Given the description of an element on the screen output the (x, y) to click on. 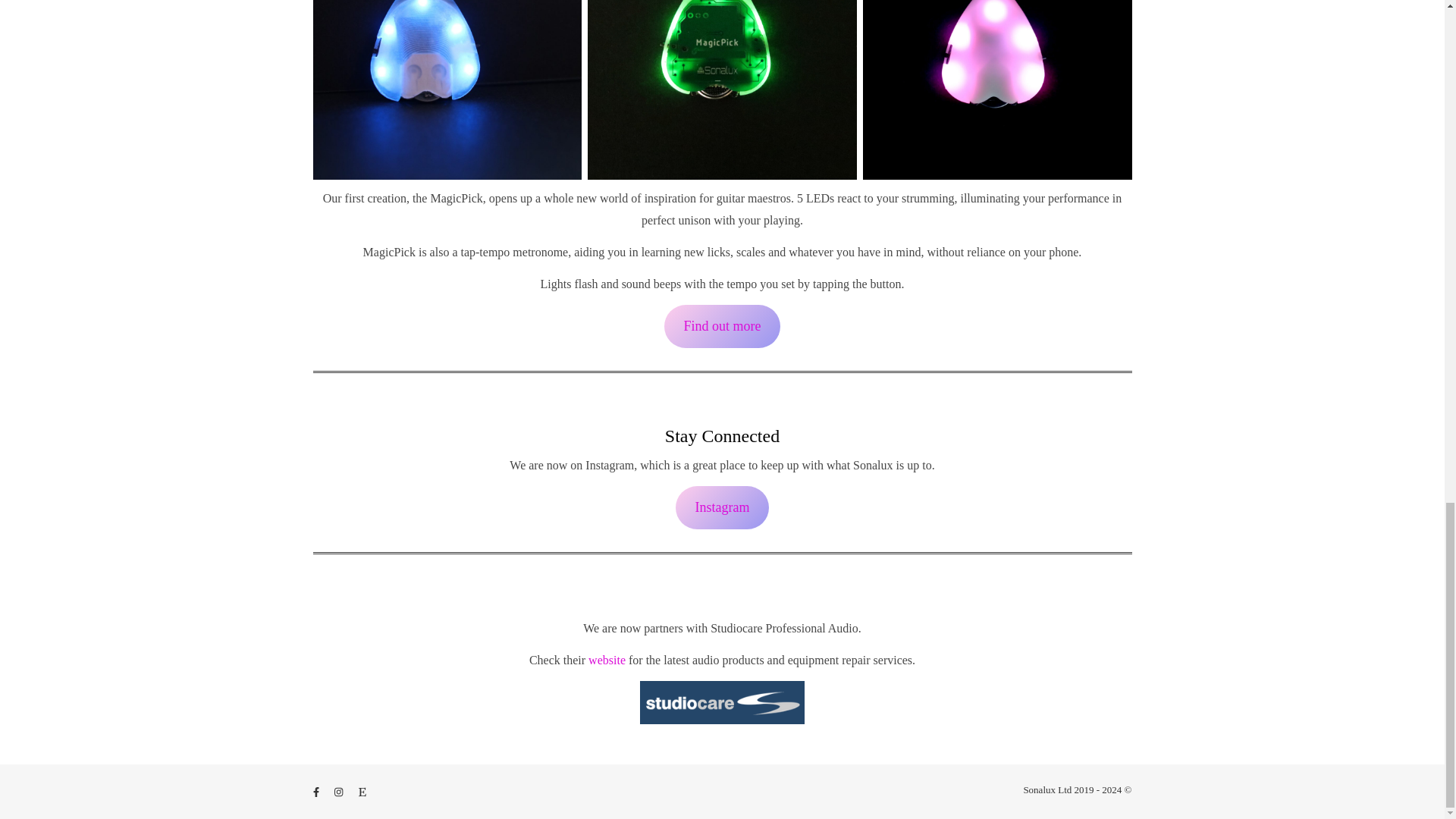
website (607, 659)
Find out more (721, 326)
Instagram (722, 507)
